Given the description of an element on the screen output the (x, y) to click on. 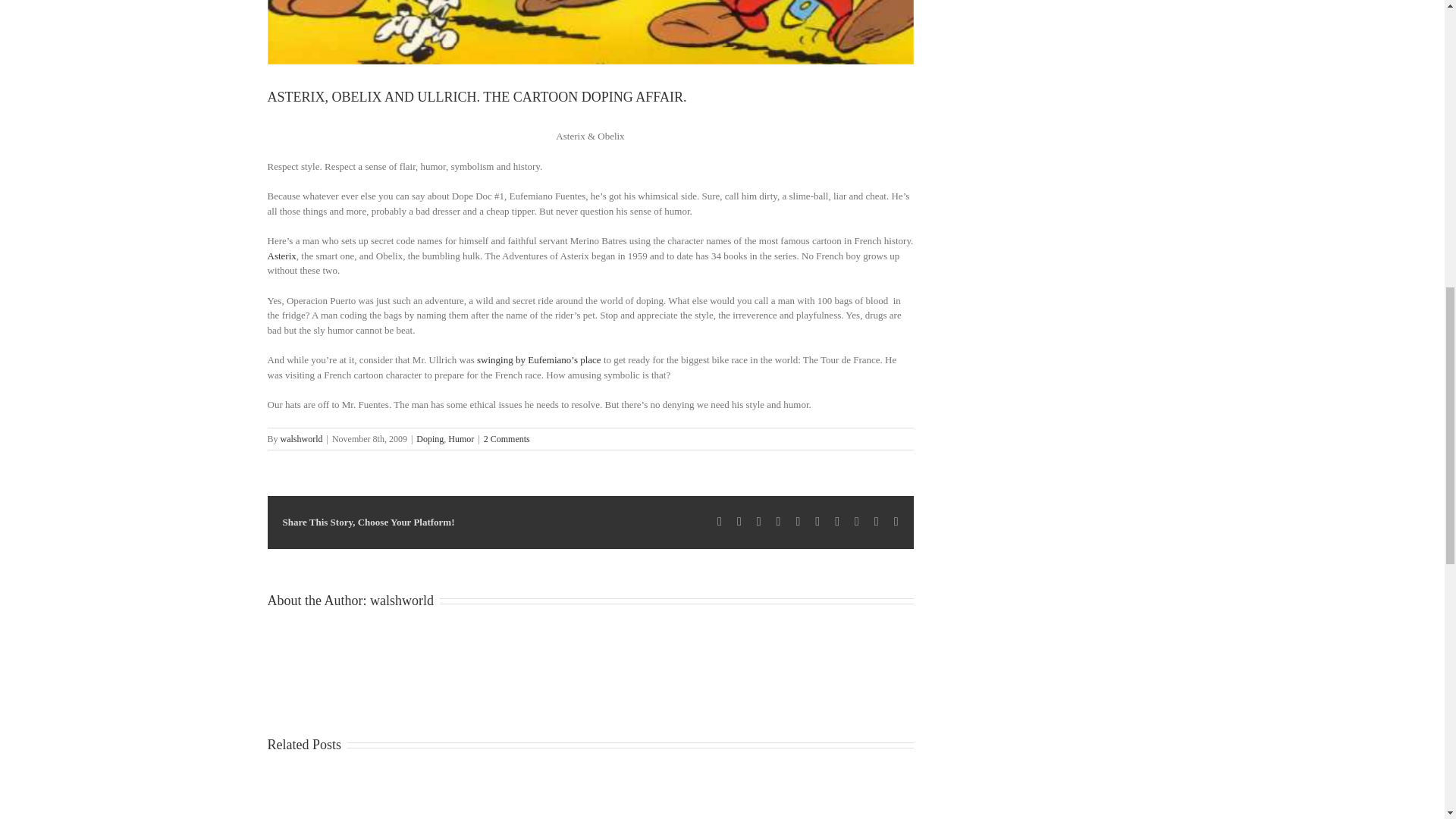
Posts by walshworld (401, 600)
Posts by walshworld (302, 439)
View Larger Image (589, 32)
ghghghgh (589, 32)
